Given the description of an element on the screen output the (x, y) to click on. 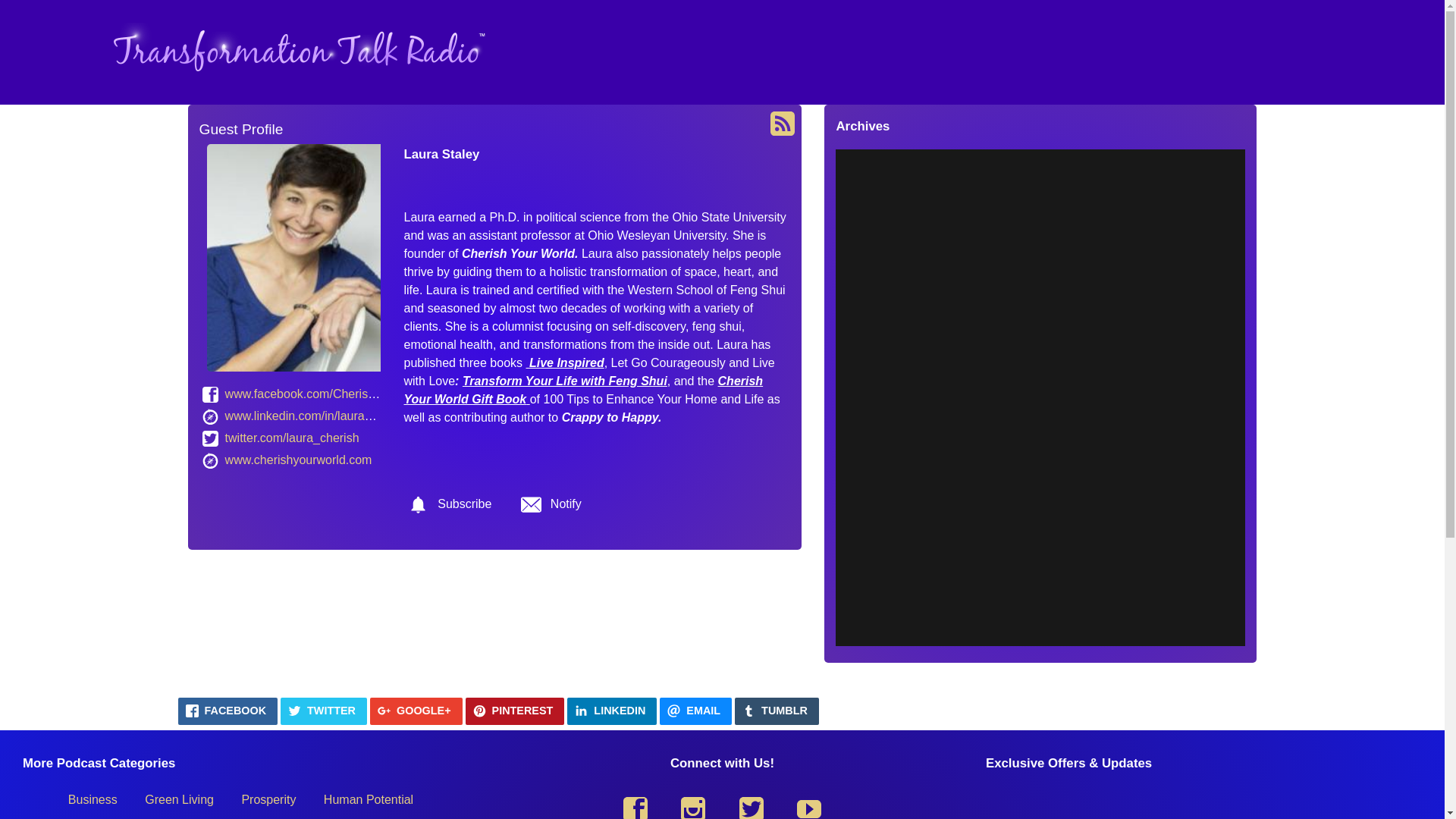
Business (92, 799)
Prosperity (267, 799)
Meditation (121, 816)
TWITTER (323, 710)
LINKEDIN (611, 710)
FACEBOOK (227, 710)
 Subscribe (448, 505)
Marketing (204, 816)
TUMBLR (776, 710)
Subscribe to RSS Archives (782, 123)
Human Potential (368, 799)
Green Living (178, 799)
PINTEREST (514, 710)
